Given the description of an element on the screen output the (x, y) to click on. 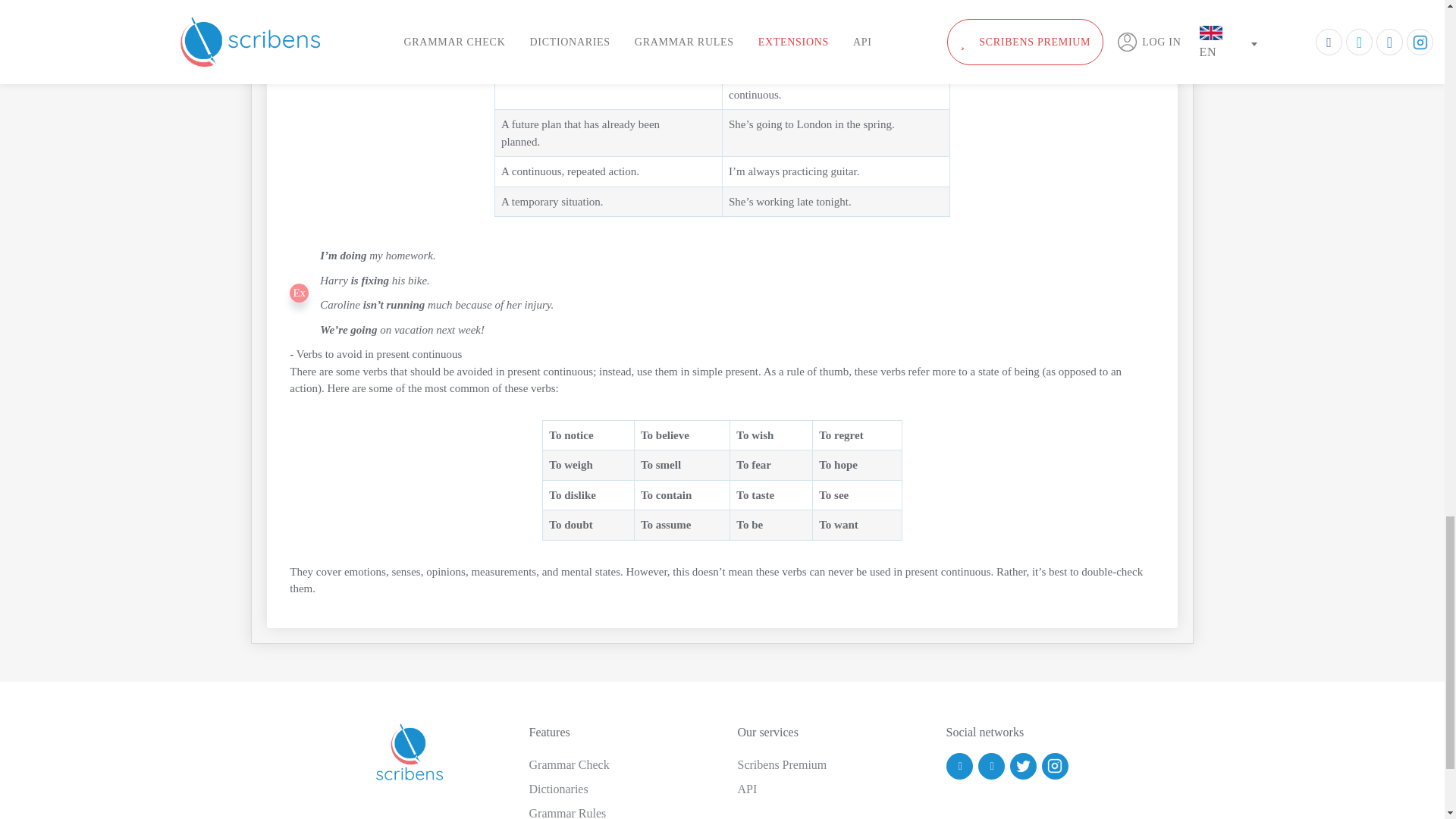
Grammar Check (569, 764)
Instagram (1055, 765)
SCRIBENS (409, 758)
Grammar Rules (568, 812)
API (746, 788)
Twitter (1023, 765)
LinkedIn (991, 765)
Scribens Premium (781, 764)
Dictionaries (558, 788)
Facebook (959, 765)
